Given the description of an element on the screen output the (x, y) to click on. 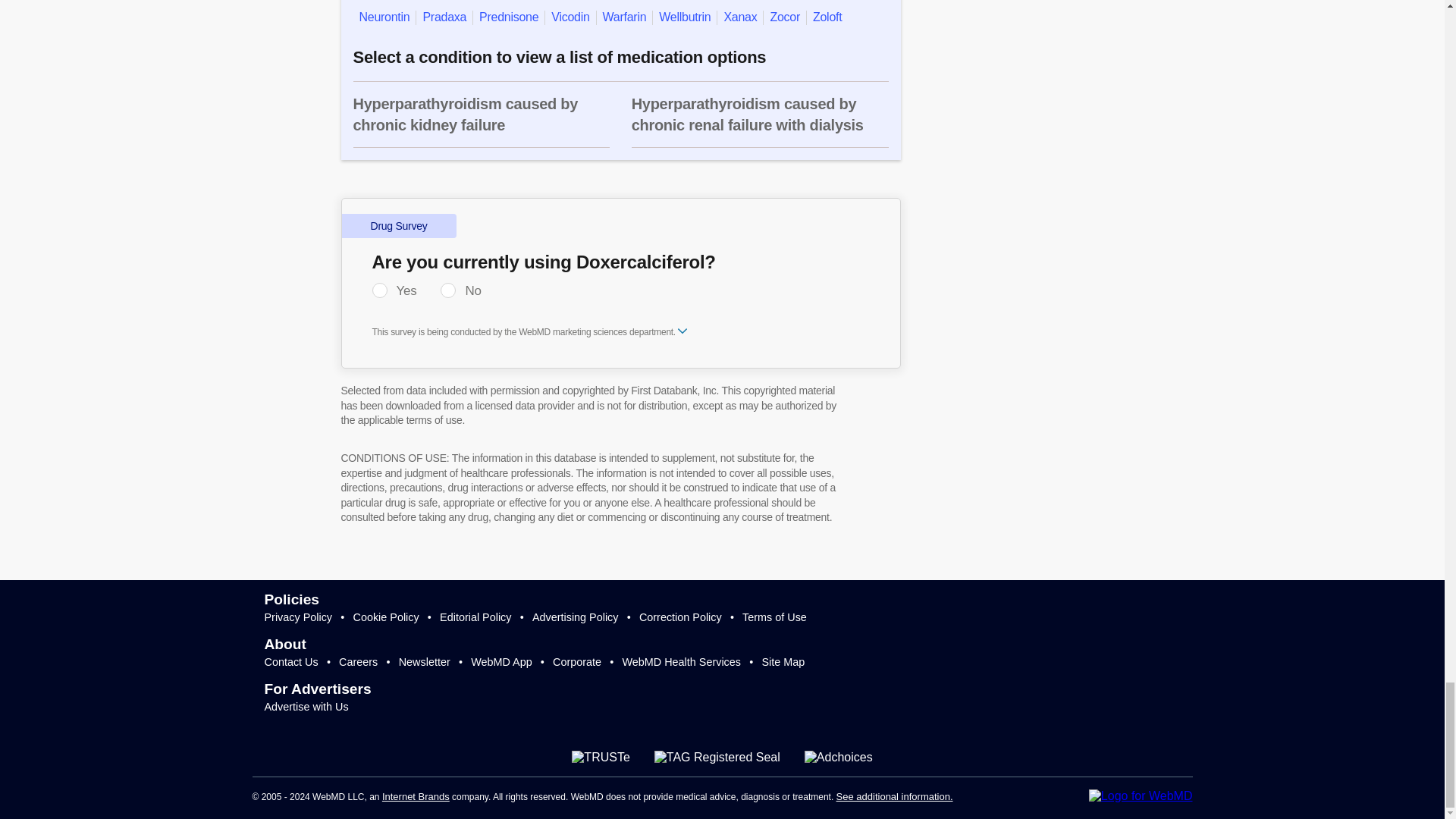
TRUSTe Privacy Certification (600, 757)
Adchoices (838, 757)
TAG Registered Seal (716, 757)
WebMD: Better information. Better health. (1140, 796)
